Given the description of an element on the screen output the (x, y) to click on. 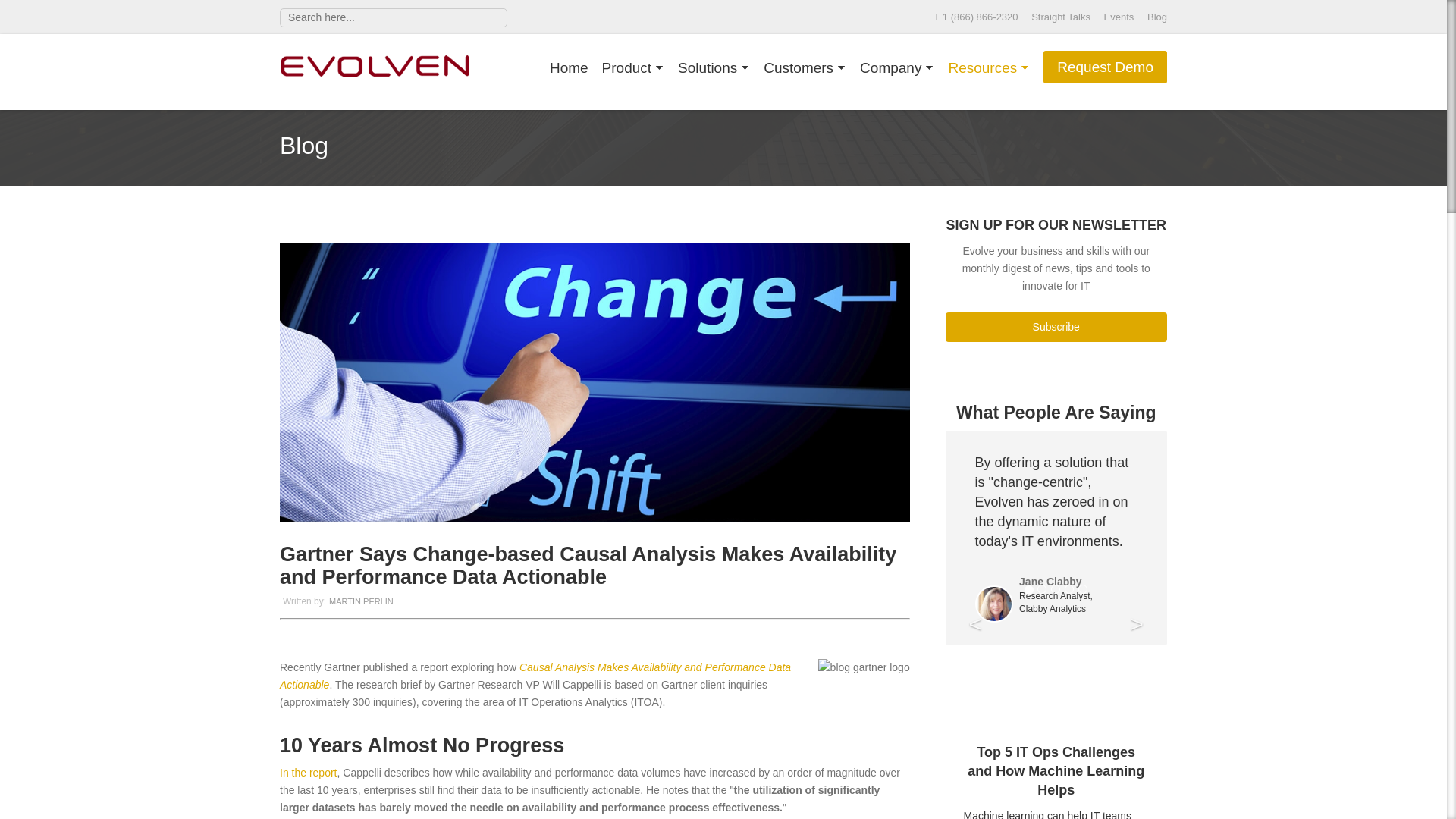
Company (903, 67)
Home (576, 67)
Solutions (720, 67)
Blog (1157, 16)
Events (1118, 16)
Product (640, 67)
Customers (811, 67)
Straight Talks (1060, 16)
